Given the description of an element on the screen output the (x, y) to click on. 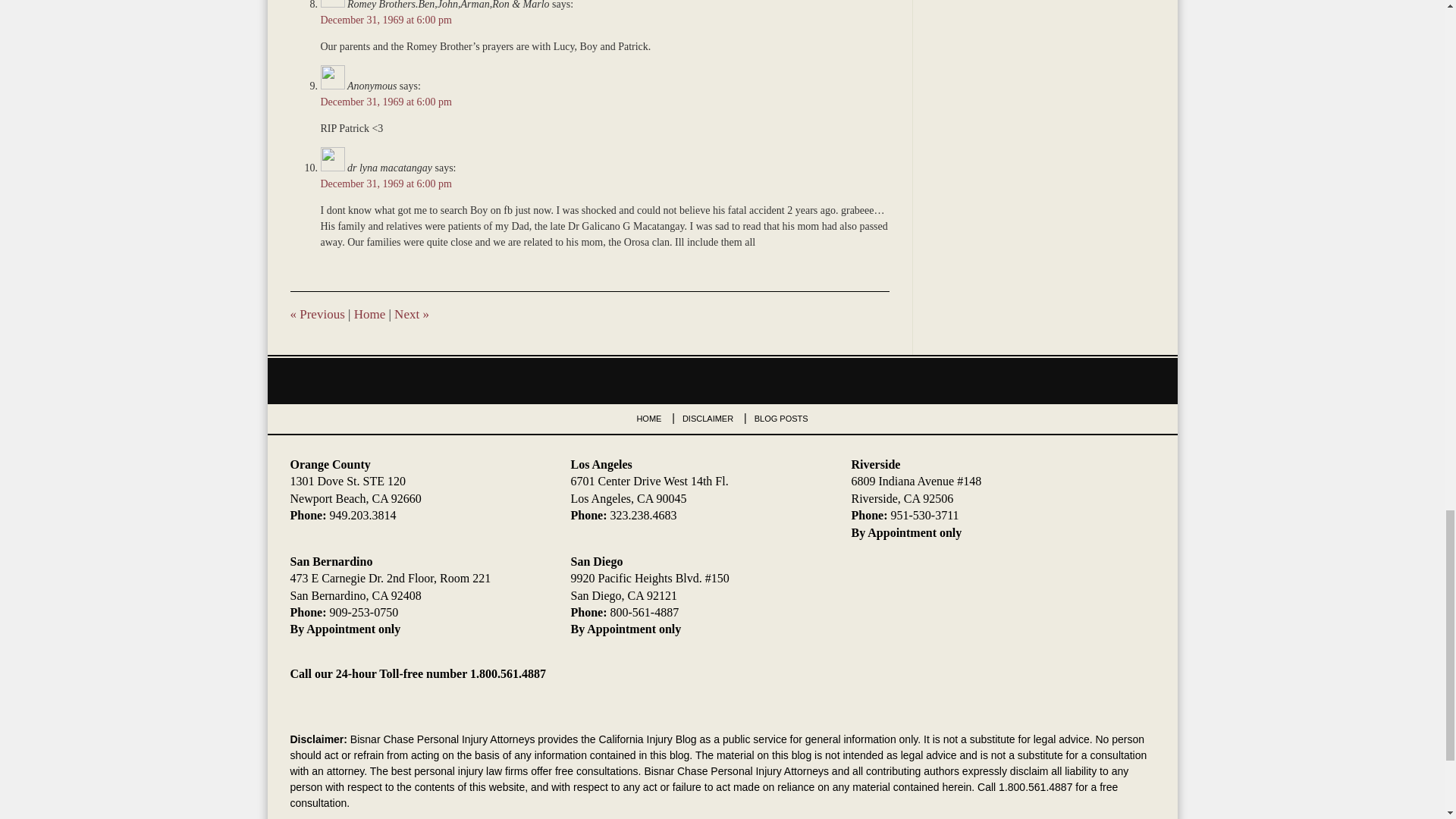
Los Angeles Pedestrian Accident Injures Two Children (316, 314)
December 31, 1969 at 6:00 pm (385, 19)
December 31, 1969 at 6:00 pm (385, 101)
Los Angeles Car Accident Kills One And Injuries Three (411, 314)
Home (369, 314)
December 31, 1969 at 6:00 pm (385, 183)
